Given the description of an element on the screen output the (x, y) to click on. 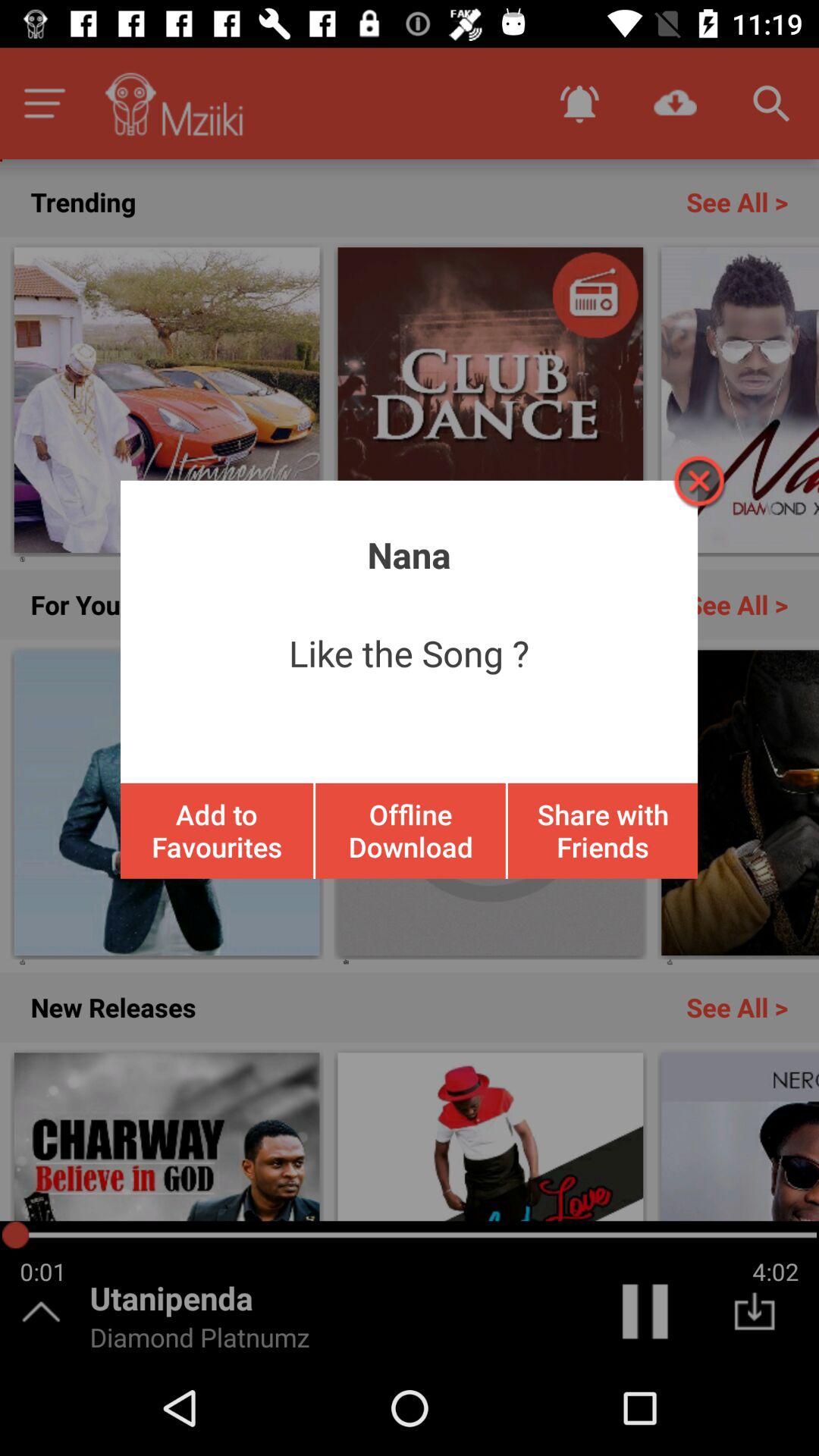
close the screen (698, 480)
